Given the description of an element on the screen output the (x, y) to click on. 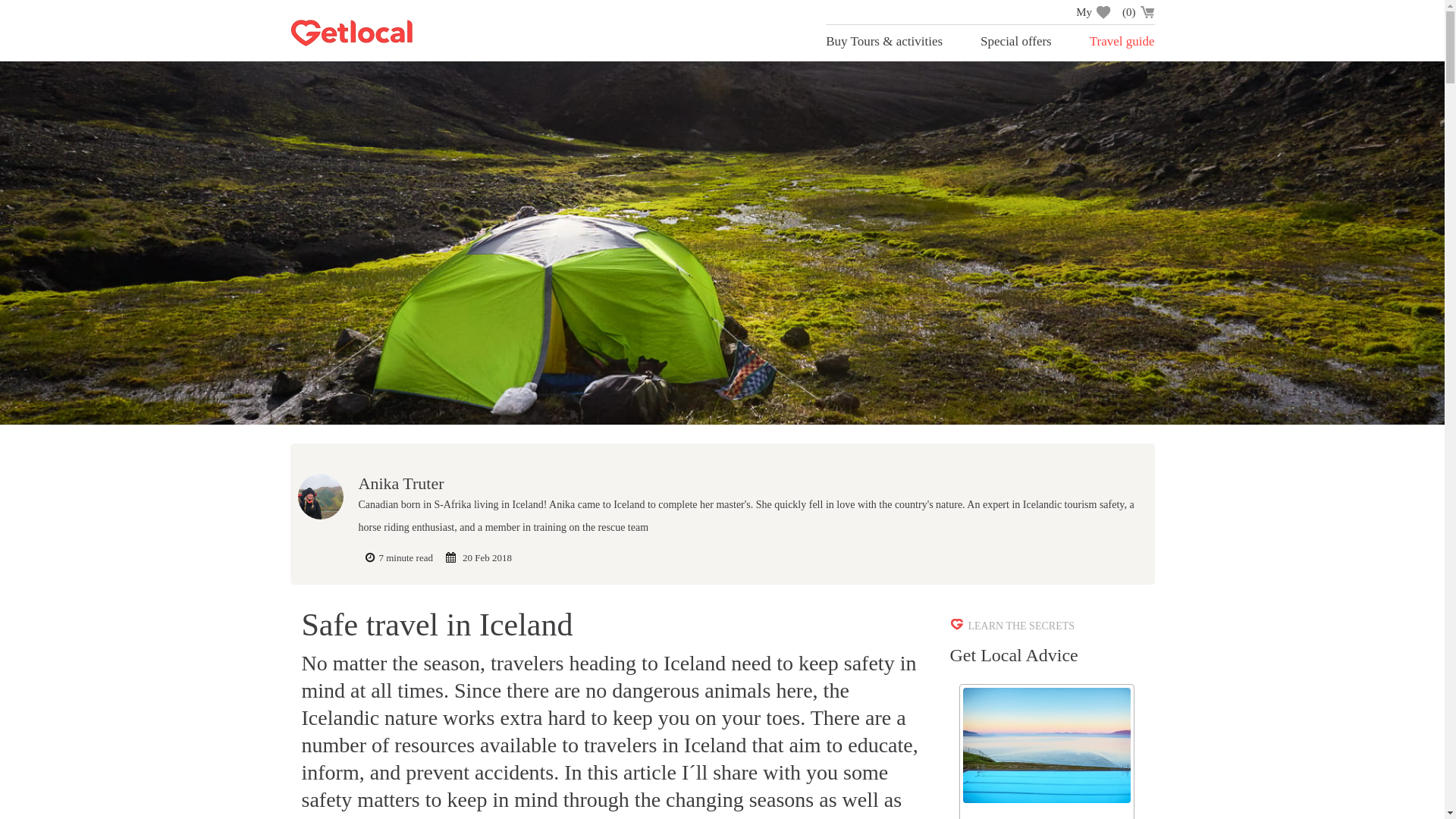
Travel guide (1121, 41)
Special offers (1015, 41)
My (1092, 12)
